Given the description of an element on the screen output the (x, y) to click on. 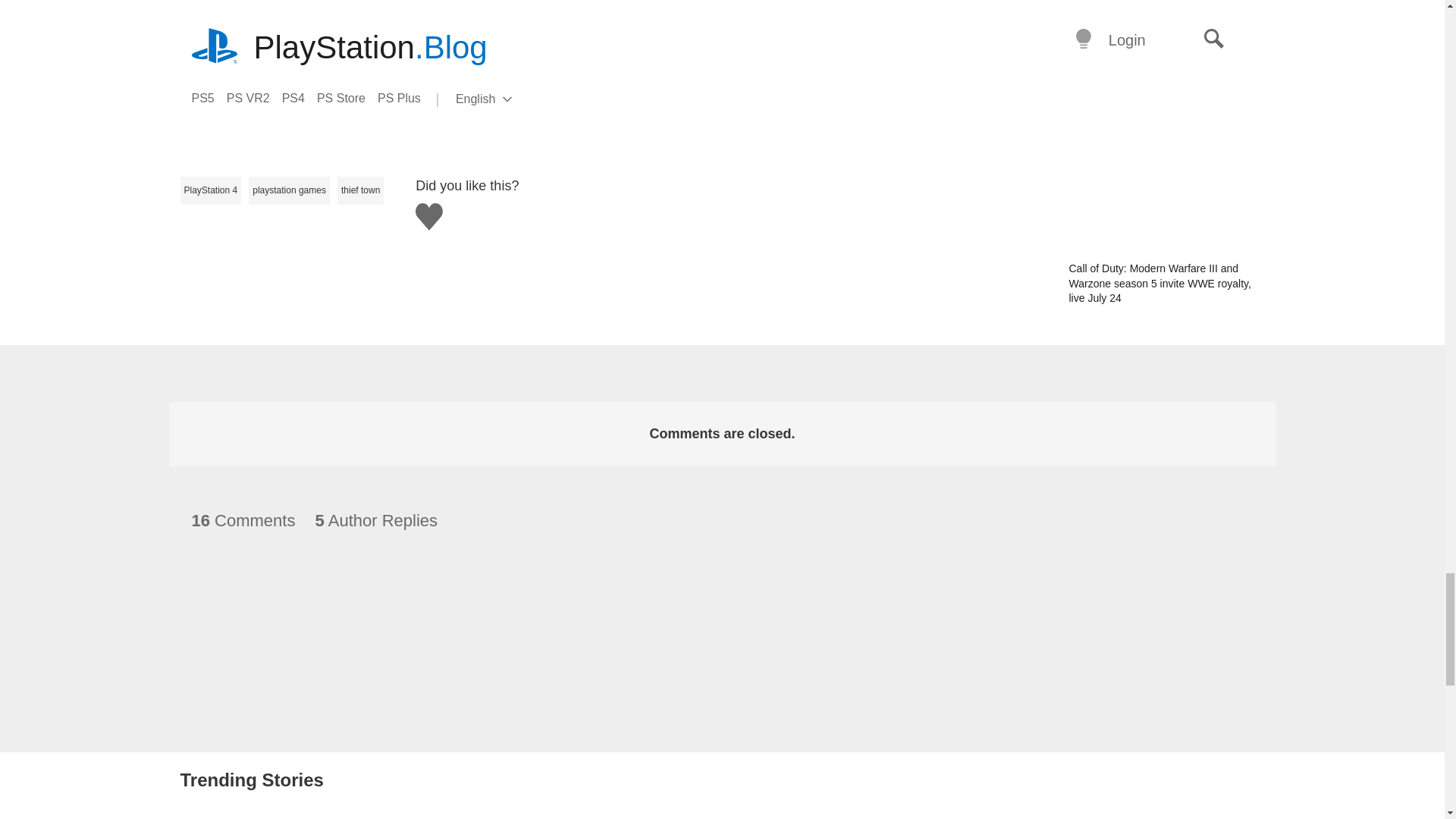
Like this (428, 216)
